Given the description of an element on the screen output the (x, y) to click on. 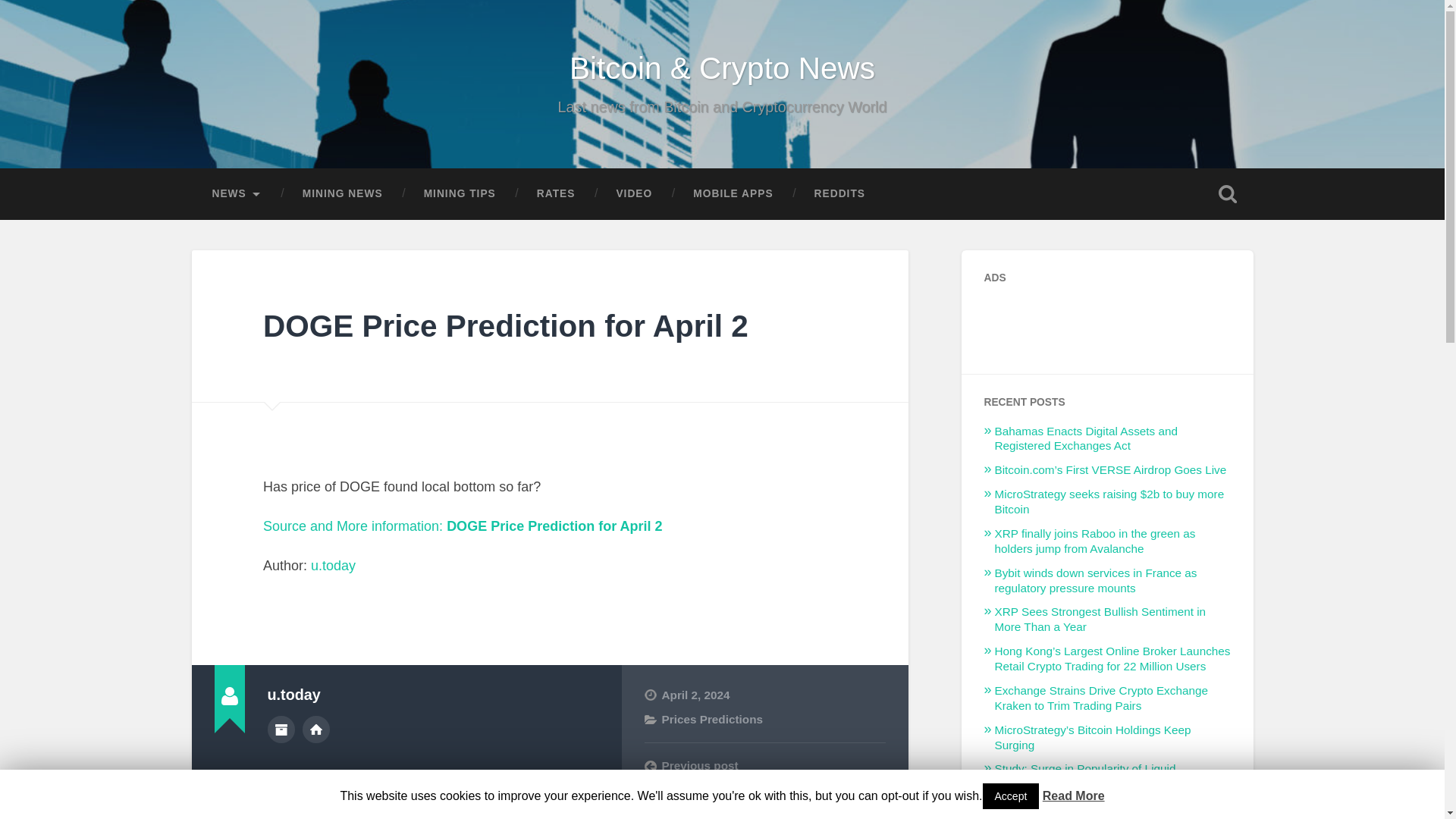
Author website (316, 728)
MINING NEWS (342, 194)
NEWS (235, 194)
VIDEO (633, 194)
Author archive (280, 728)
MINING TIPS (459, 194)
Next post (765, 790)
RATES (555, 194)
Prices Predictions (711, 718)
Author website (316, 728)
Previous post (765, 765)
DOGE Price Prediction for April 2 (505, 325)
Author archive (280, 728)
u.today (333, 565)
MOBILE APPS (732, 194)
